Given the description of an element on the screen output the (x, y) to click on. 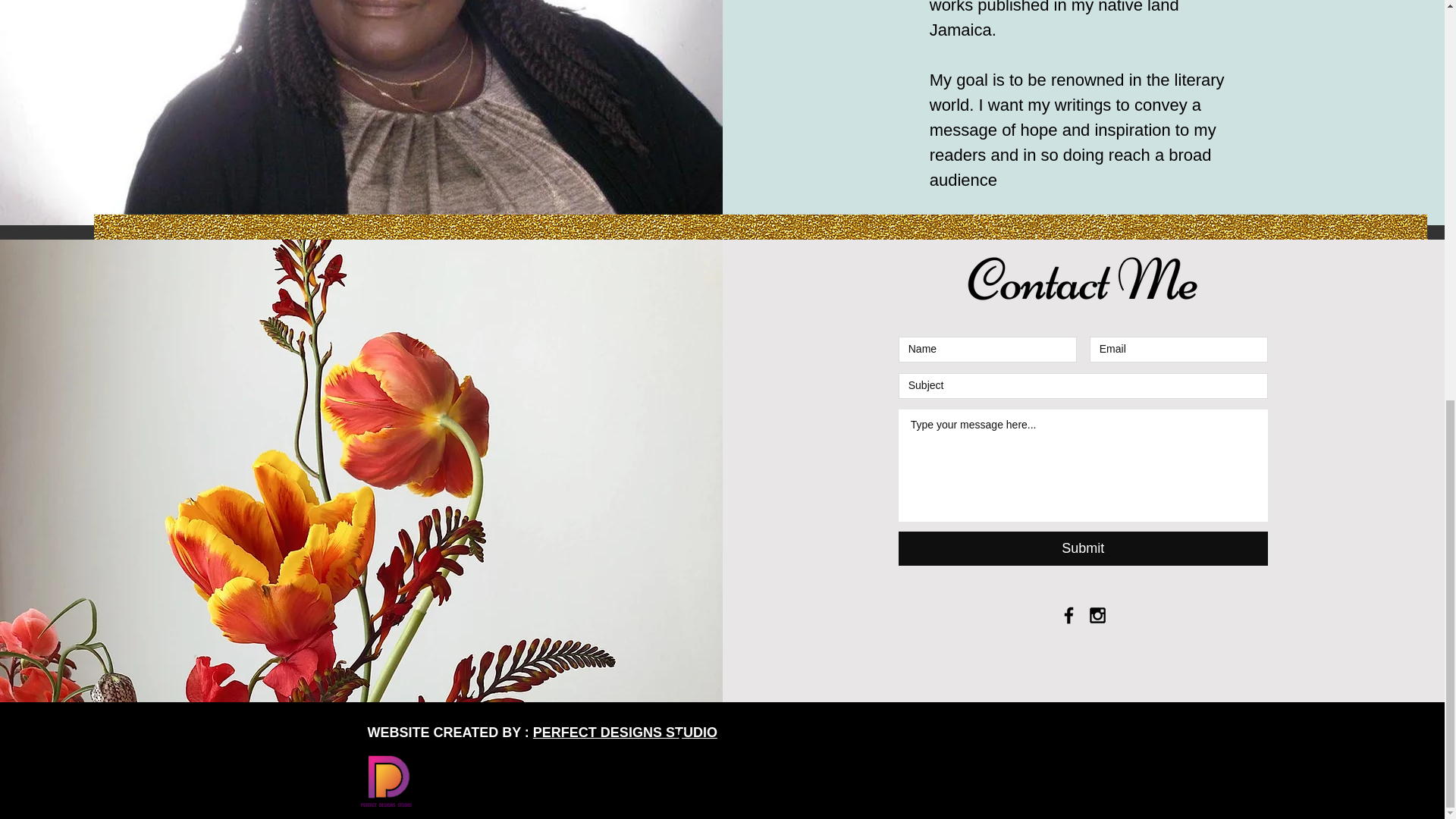
PERFECT DESIGNS STUDIO (624, 732)
Submit (1083, 548)
